Given the description of an element on the screen output the (x, y) to click on. 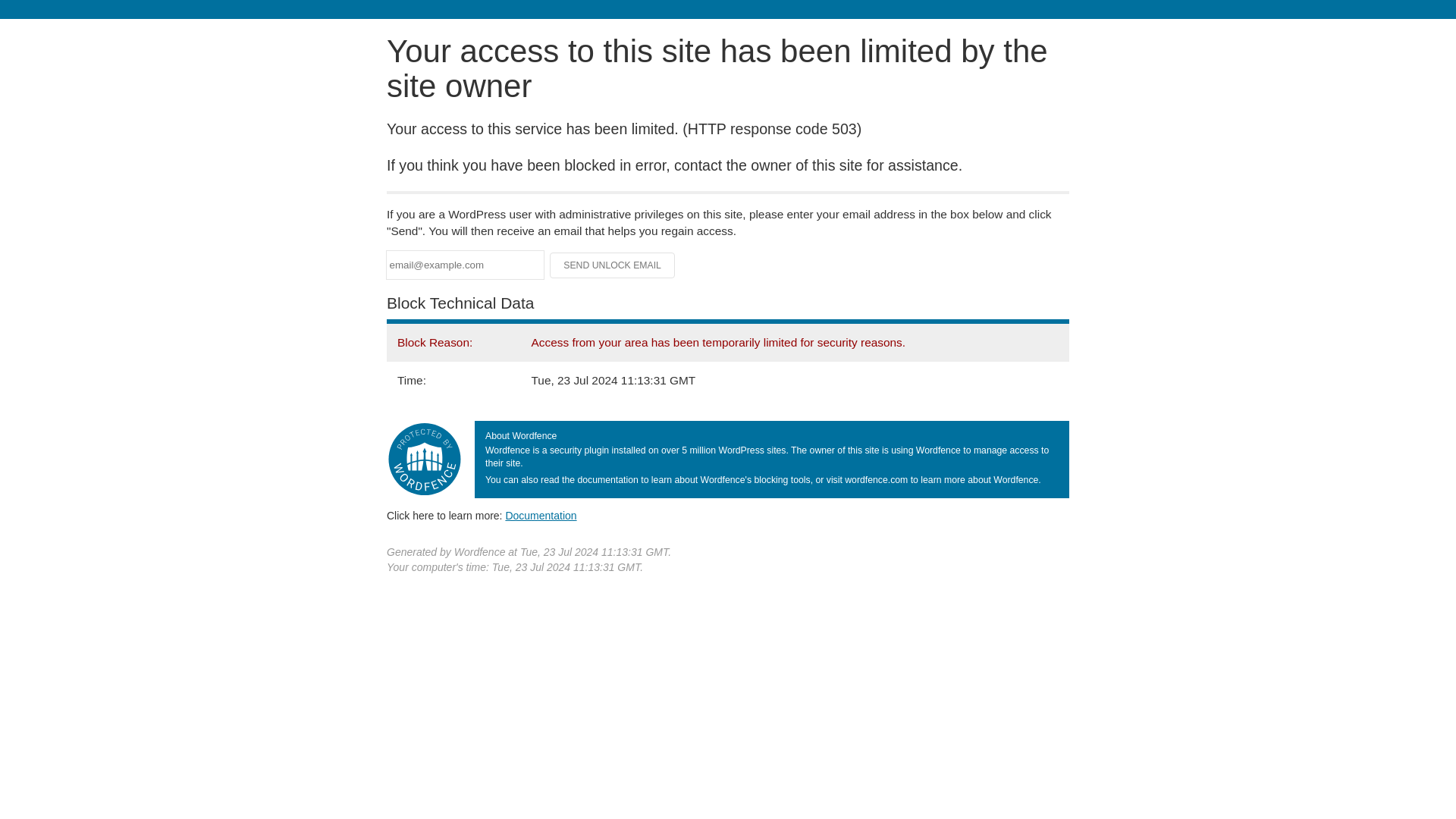
Send Unlock Email (612, 265)
Send Unlock Email (612, 265)
Documentation (540, 515)
